Given the description of an element on the screen output the (x, y) to click on. 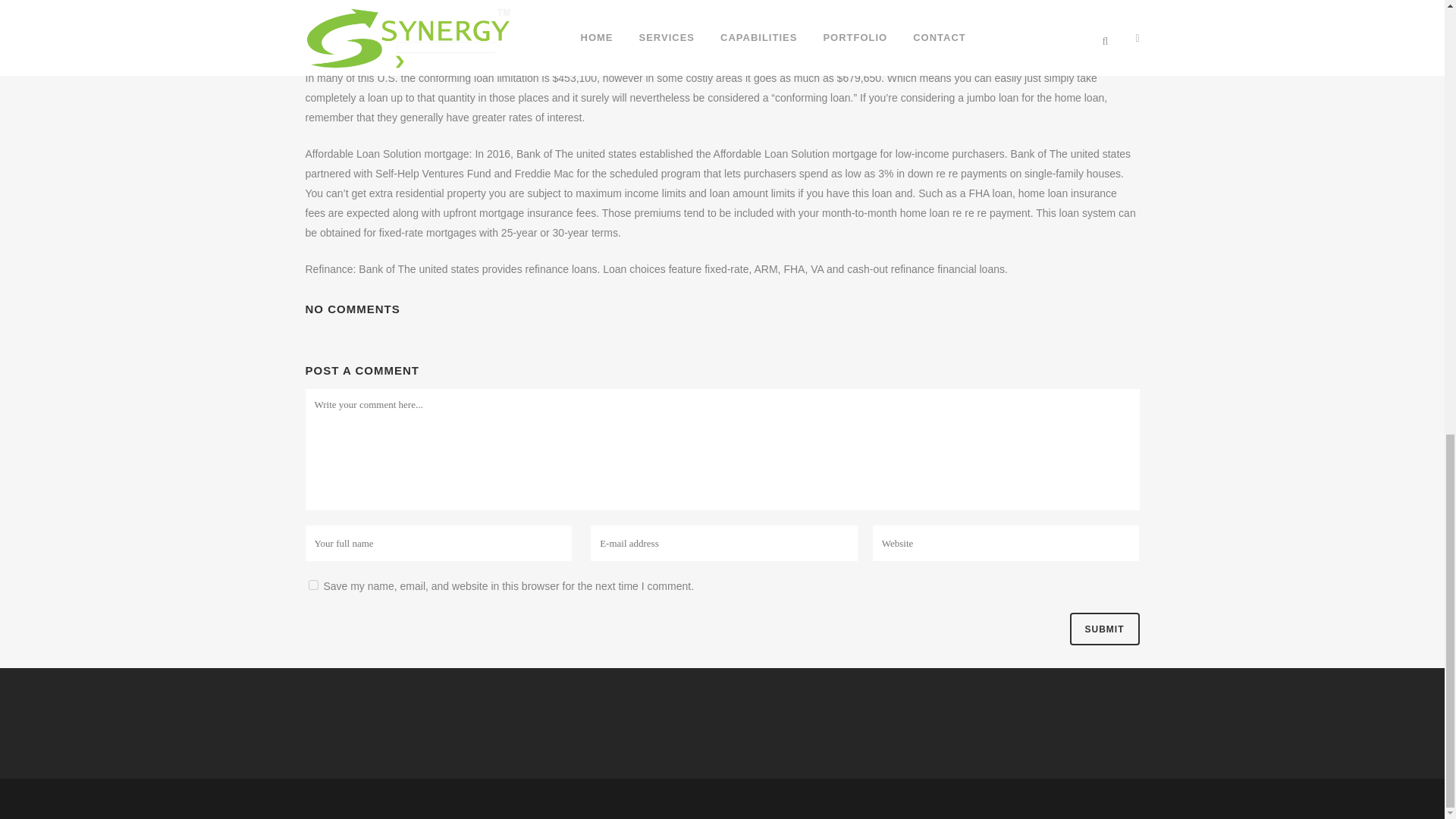
yes (312, 584)
Submit (1103, 628)
Submit (1103, 628)
